Given the description of an element on the screen output the (x, y) to click on. 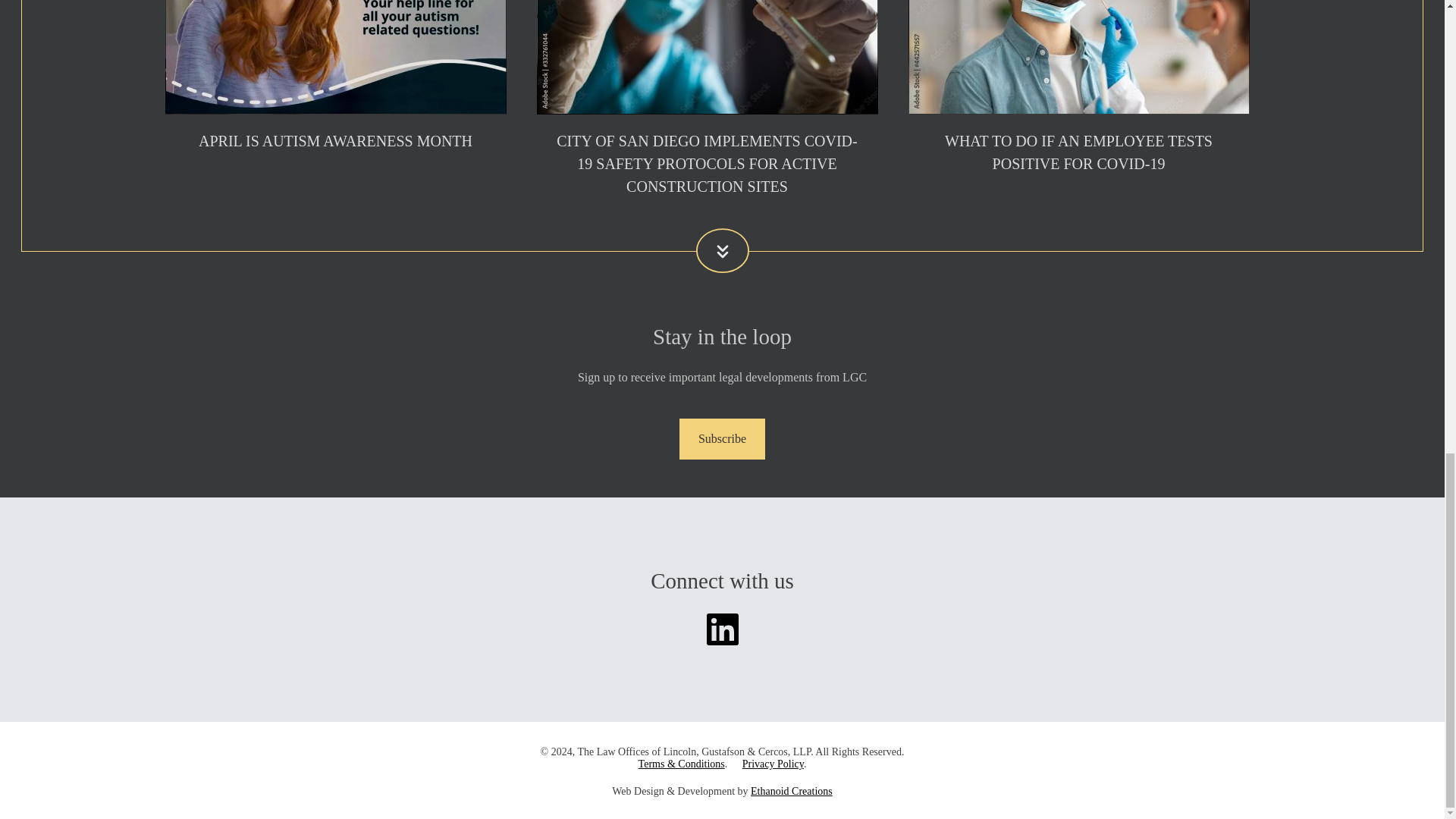
Doctor holding a coronavirus COVID-19 test tube (707, 57)
